Given the description of an element on the screen output the (x, y) to click on. 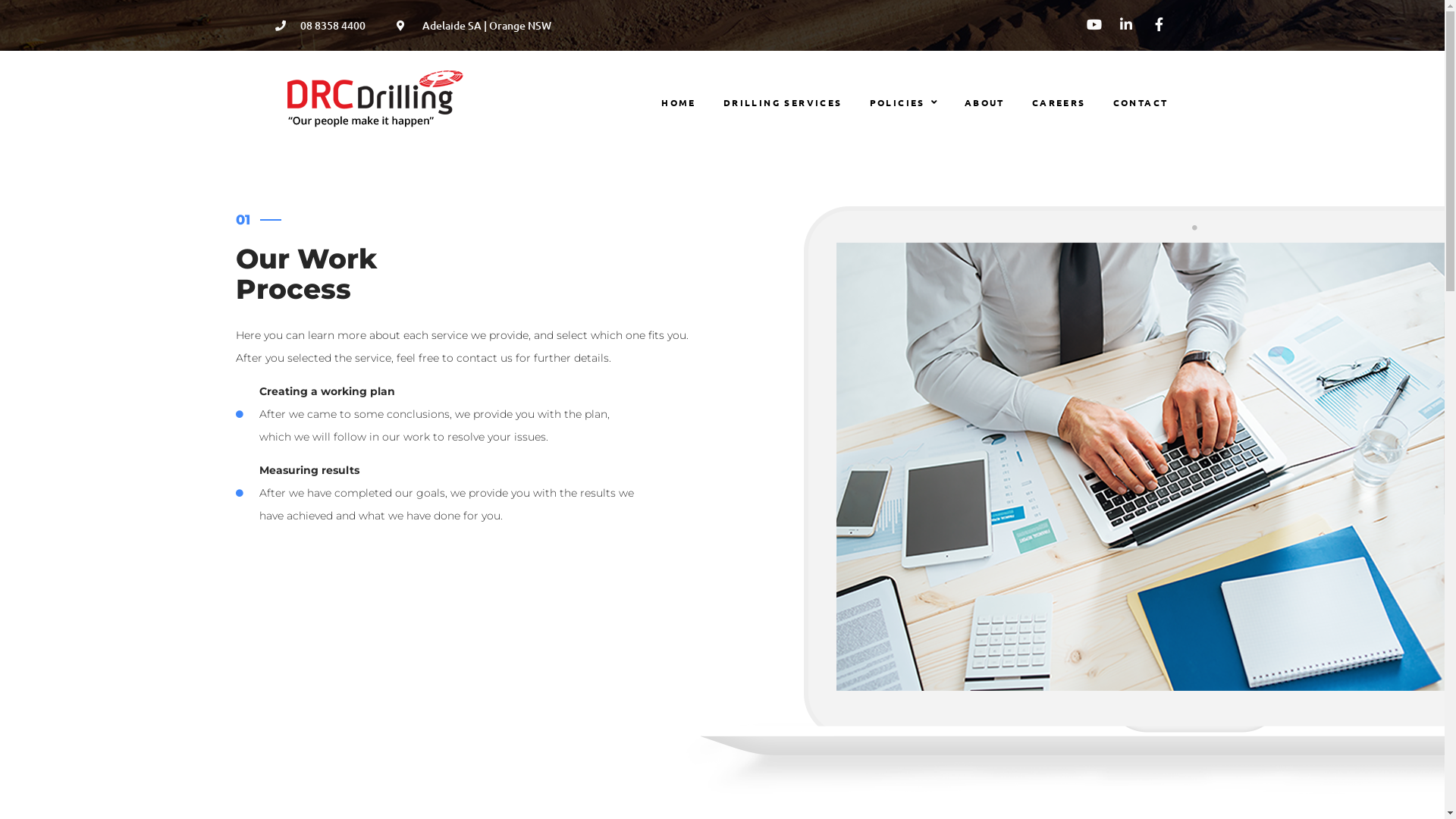
CAREERS Element type: text (1058, 102)
DRILLING SERVICES Element type: text (782, 102)
CONTACT Element type: text (1140, 102)
ABOUT Element type: text (984, 102)
POLICIES Element type: text (903, 102)
08 8358 4400 Element type: text (319, 25)
HOME Element type: text (678, 102)
